Given the description of an element on the screen output the (x, y) to click on. 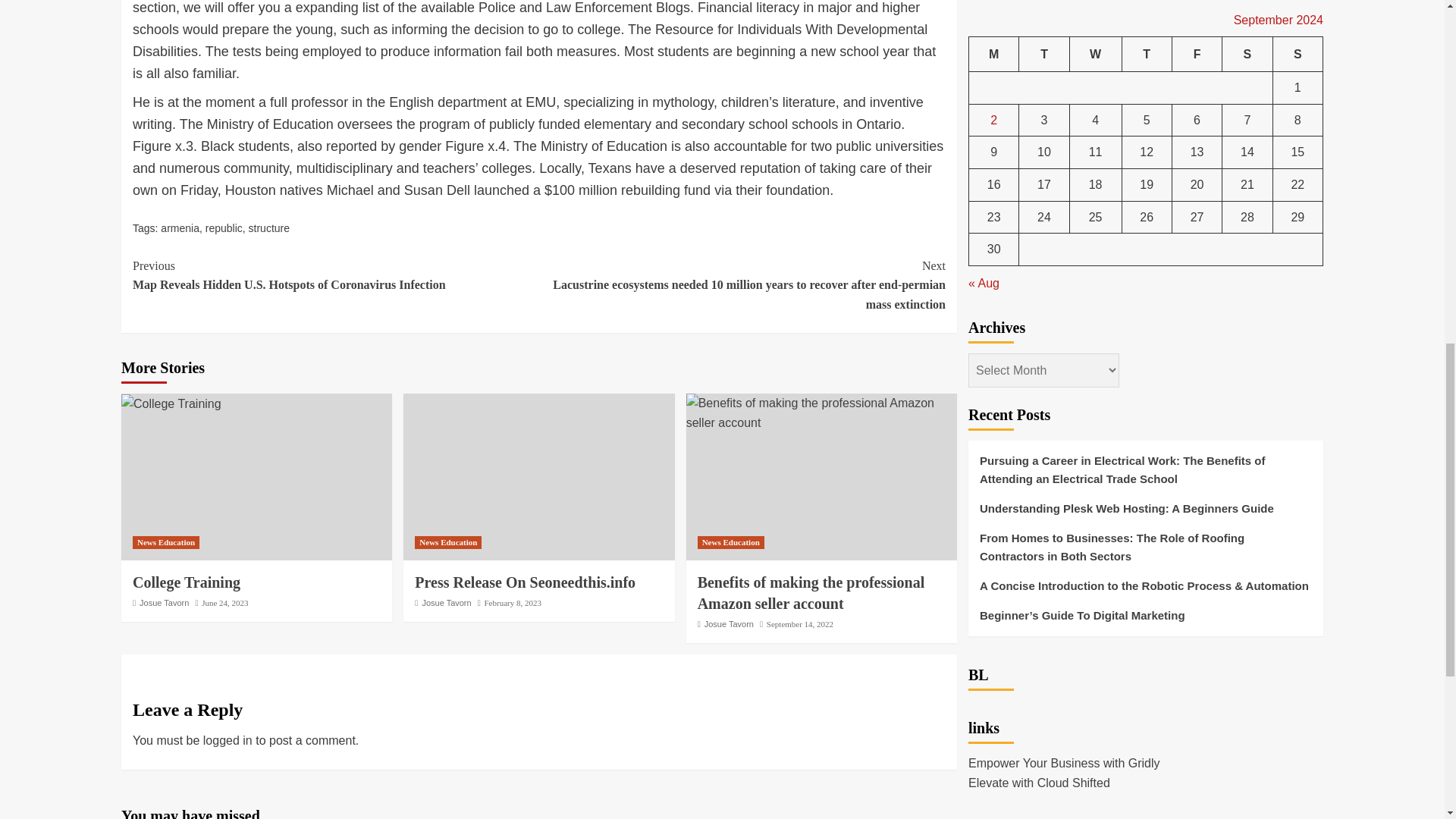
Press Release On Seoneedthis.info (524, 582)
armenia (179, 227)
Josue Tavorn (164, 602)
republic (224, 227)
June 24, 2023 (224, 602)
News Education (447, 542)
College Training (170, 403)
February 8, 2023 (511, 602)
College Training (186, 582)
